Given the description of an element on the screen output the (x, y) to click on. 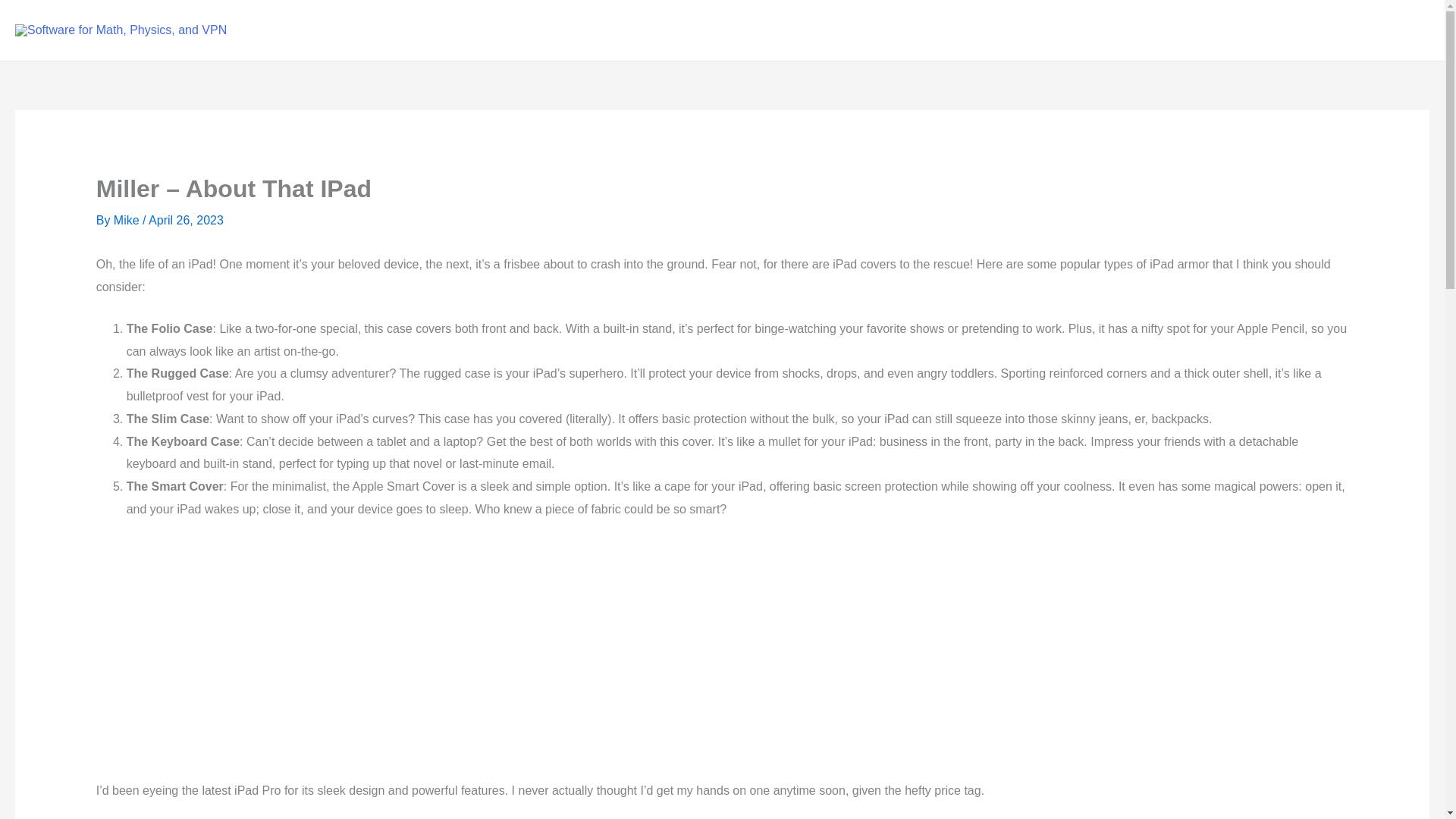
View all posts by Mike (127, 219)
Mike (127, 219)
